Given the description of an element on the screen output the (x, y) to click on. 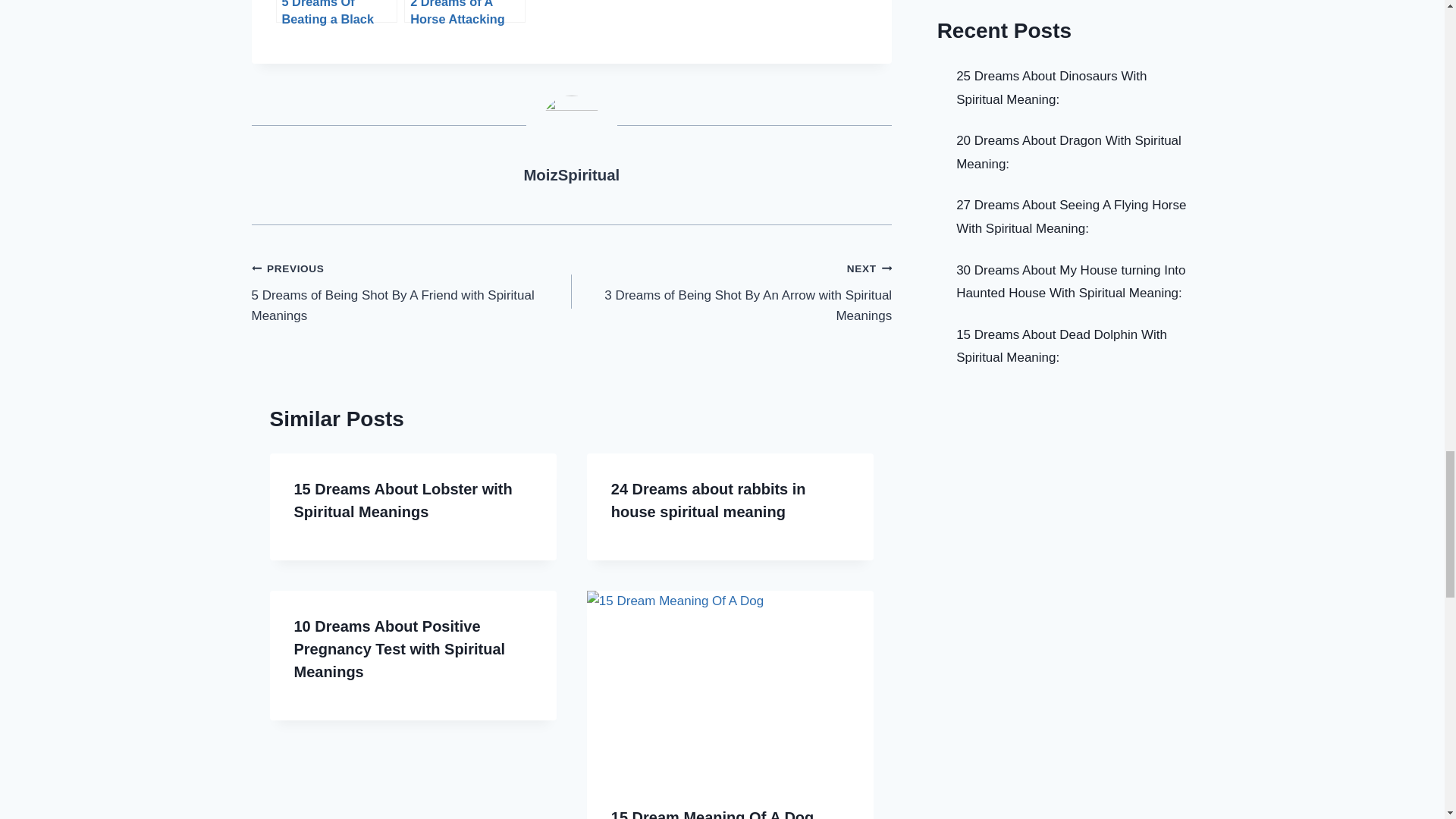
5 Dreams Of Beating a Black Dog with Spiritual Meanings (336, 11)
15 Dreams About Lobster with Spiritual Meanings (403, 500)
15 Dream Meaning Of A Dog (712, 814)
MoizSpiritual (571, 175)
5 Dreams Of Beating a Black Dog with Spiritual Meanings (336, 11)
2 Dreams of A Horse Attacking You With Spiritual Meanings (464, 11)
2 Dreams of A Horse Attacking You With Spiritual Meanings (464, 11)
24 Dreams about rabbits in house spiritual meaning (708, 500)
